Given the description of an element on the screen output the (x, y) to click on. 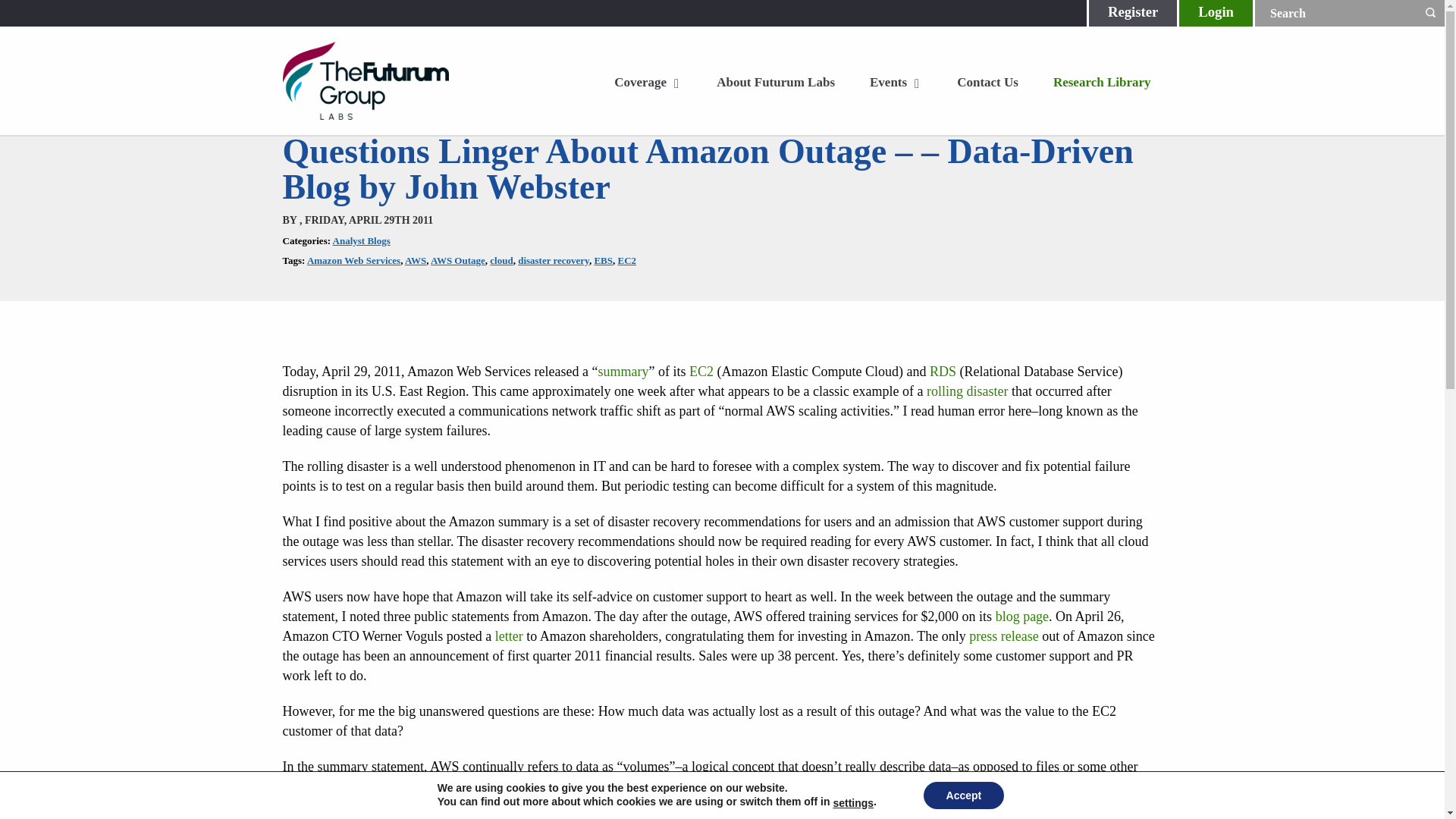
summary (623, 371)
Contact Us (986, 87)
Register (1132, 13)
Coverage (647, 87)
About Futurum Labs (775, 87)
Events (895, 87)
Login (1217, 13)
EC2 (702, 371)
rolling disaster (966, 391)
disaster recovery (553, 260)
EC2 (626, 260)
EBS (603, 260)
AWS (415, 260)
Analyst Blogs (361, 240)
